Given the description of an element on the screen output the (x, y) to click on. 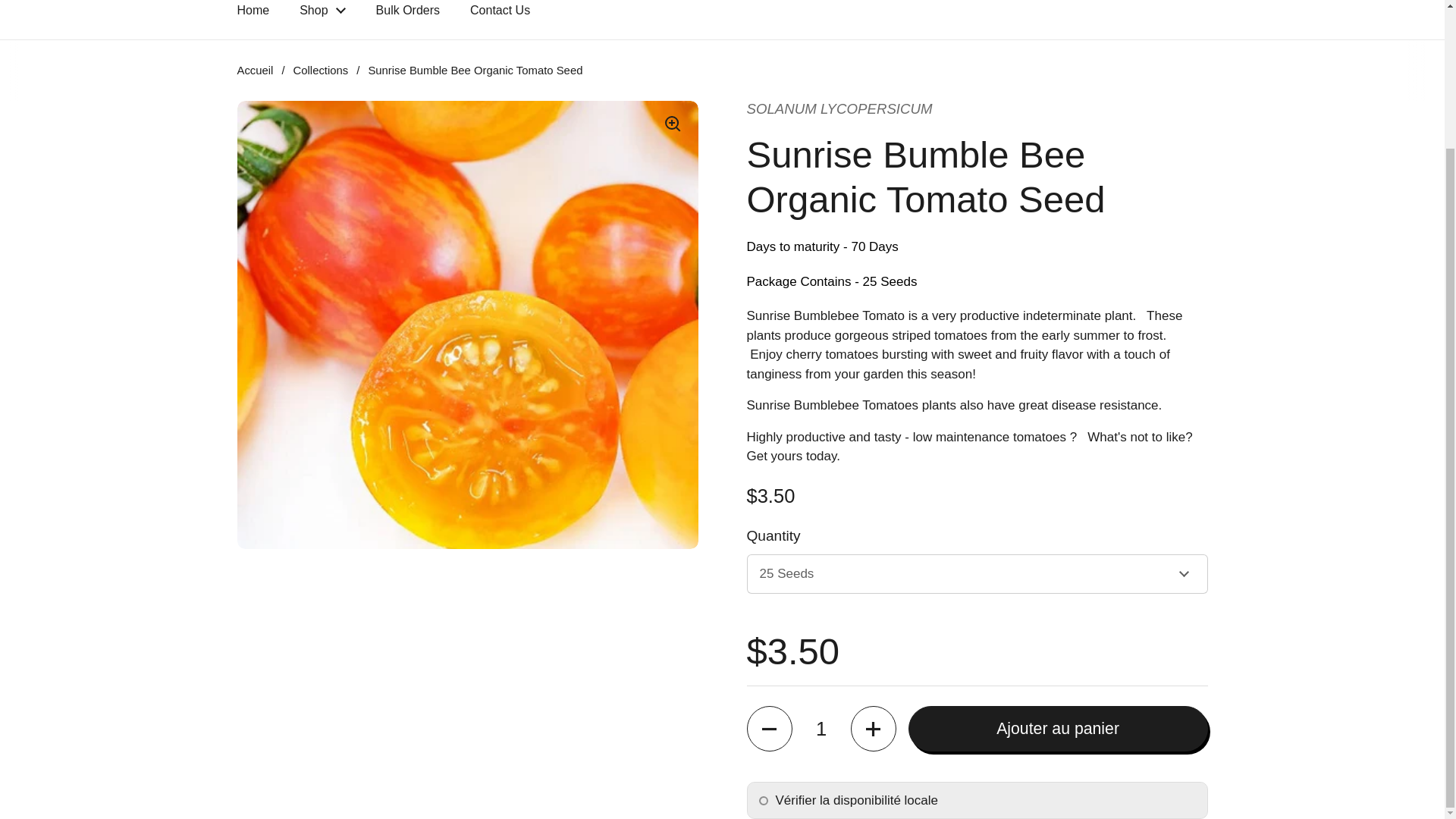
Shop (321, 13)
1 (820, 728)
Shop (321, 13)
Home (252, 13)
Home (252, 13)
